Given the description of an element on the screen output the (x, y) to click on. 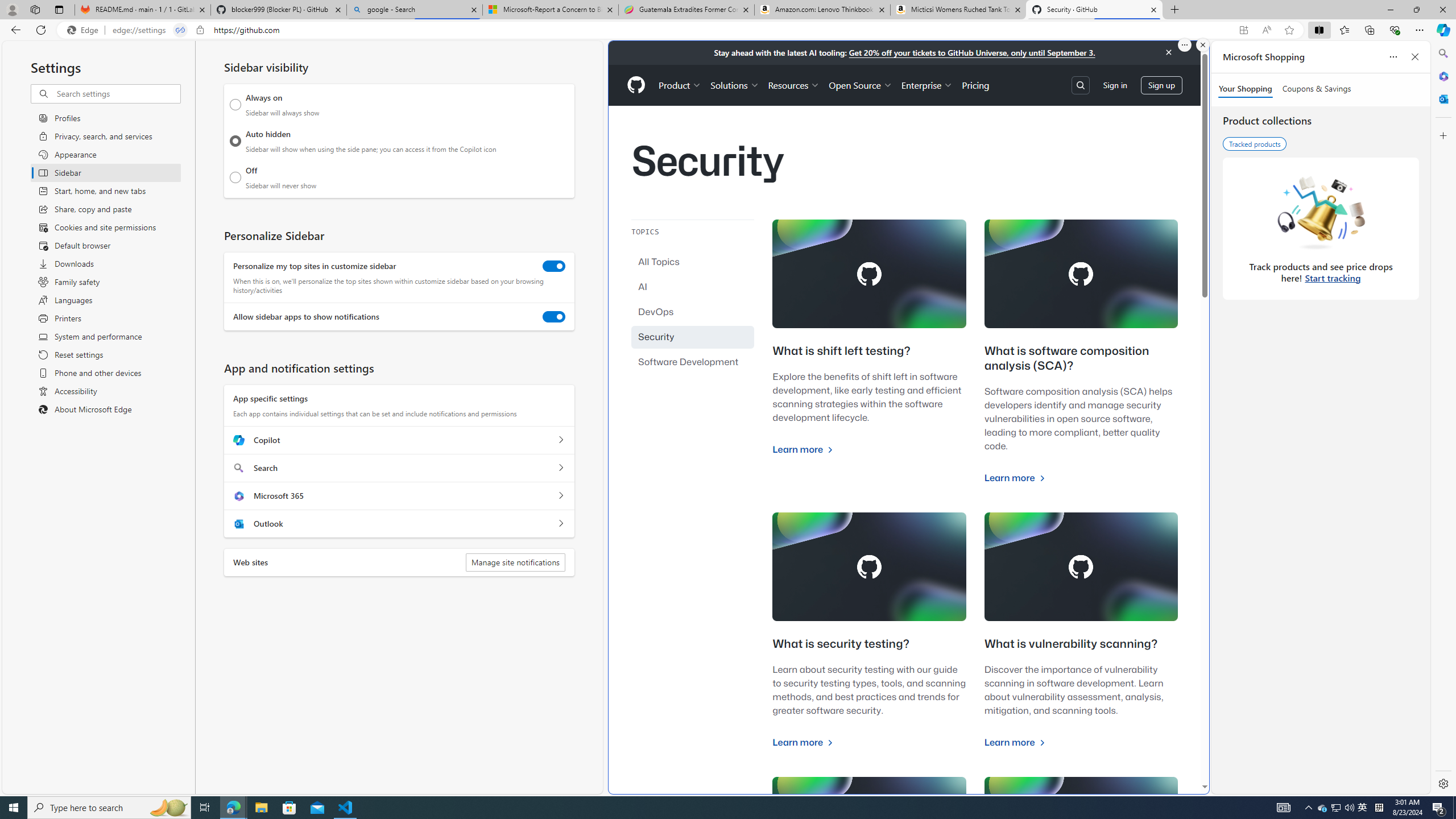
Sign up (1161, 84)
Manage site notifications (514, 562)
DevOps (692, 311)
What is security testing? (840, 644)
Software Development (692, 361)
Enterprise (927, 84)
Allow sidebar apps to show notifications (553, 316)
